Given the description of an element on the screen output the (x, y) to click on. 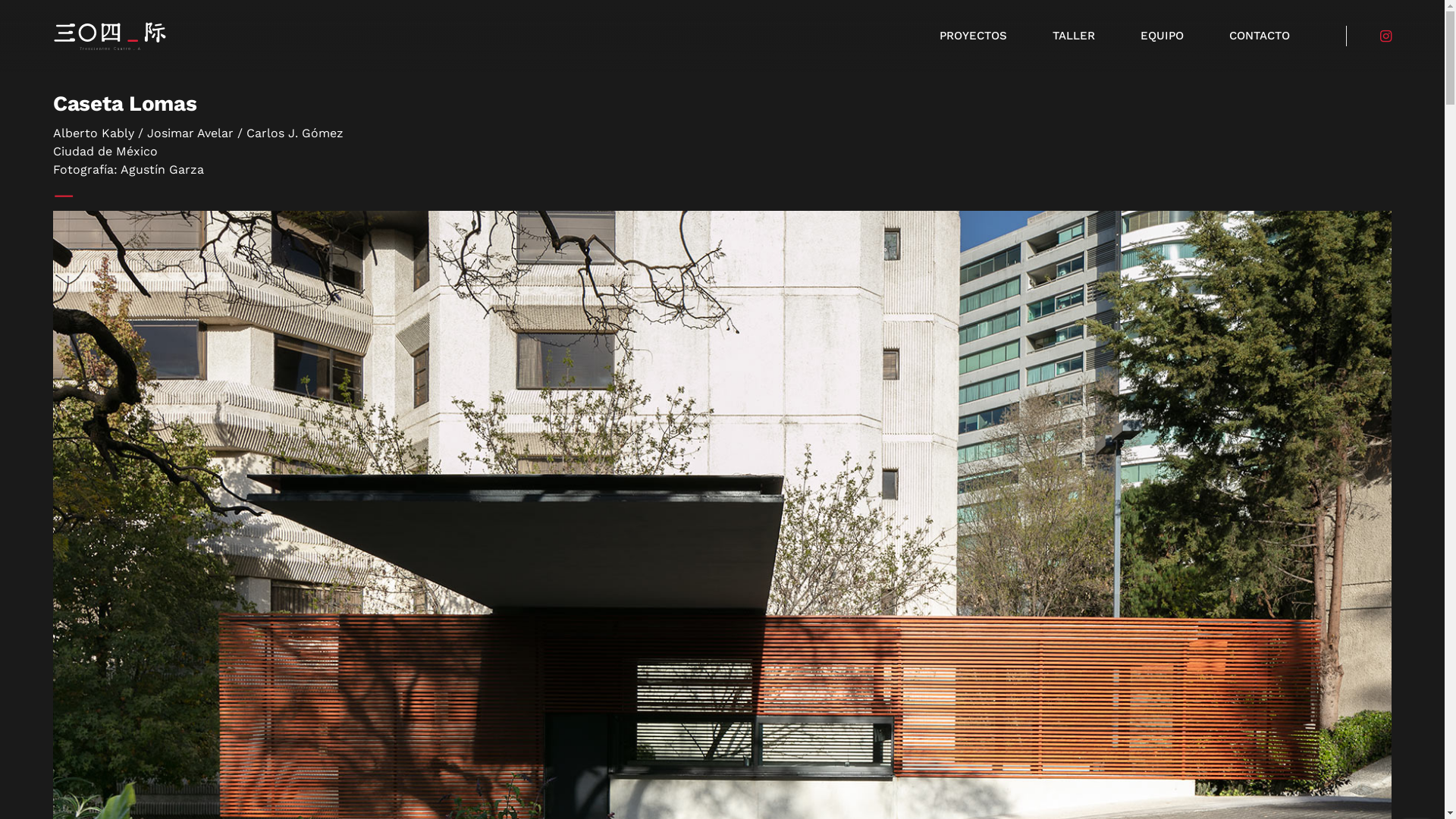
instagram Element type: hover (1385, 35)
TALLER Element type: text (1073, 36)
EQUIPO Element type: text (1161, 36)
PROYECTOS Element type: text (972, 36)
CONTACTO Element type: text (1259, 36)
